Given the description of an element on the screen output the (x, y) to click on. 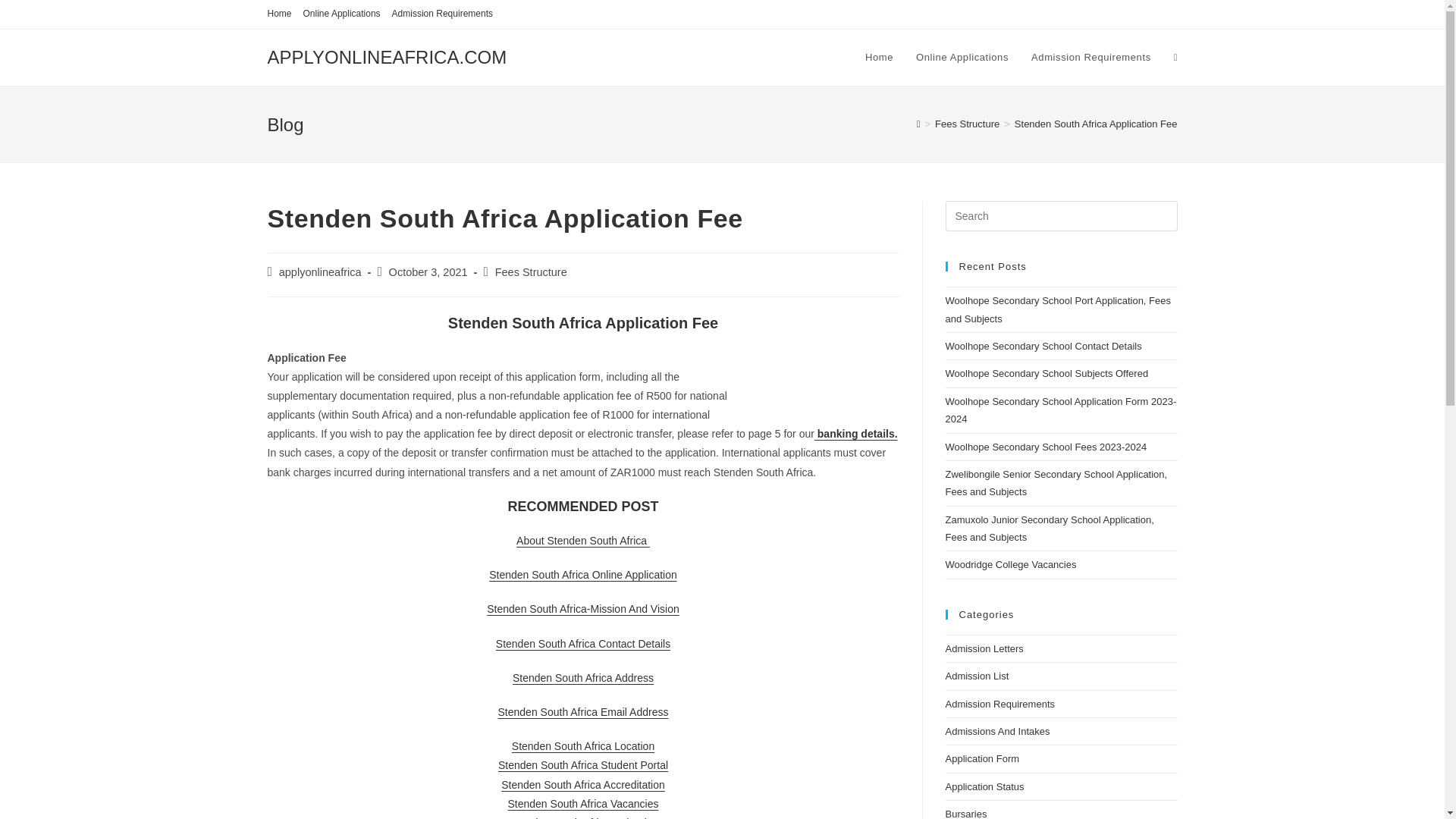
APPLYONLINEAFRICA.COM (386, 56)
Posts by applyonlineafrica (320, 272)
Admission Requirements (1090, 57)
Online Applications (341, 13)
Home (878, 57)
applyonlineafrica (320, 272)
Fees Structure (966, 123)
banking details. (855, 433)
Stenden South Africa Contact Details (582, 644)
Stenden South Africa Student Portal (582, 765)
Home (278, 13)
Stenden South Africa Online Application (583, 574)
Stenden South Africa Calendar (583, 817)
Stenden South Africa Vacancies (583, 803)
Stenden South Africa Accreditation (582, 784)
